Given the description of an element on the screen output the (x, y) to click on. 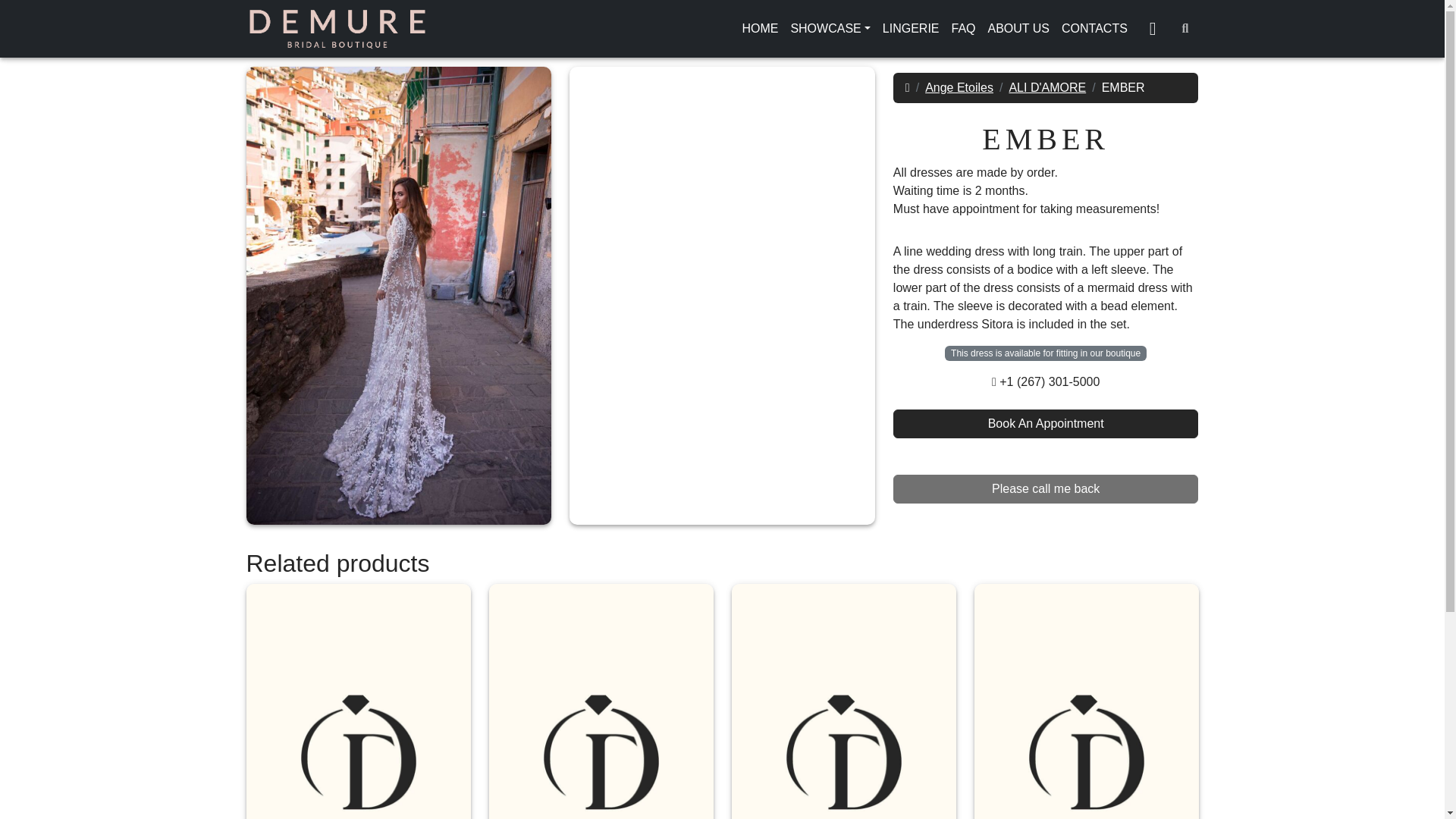
SHOWCASE (830, 28)
HOME (759, 28)
ALI D'AMORE (1047, 87)
Please call me back (1045, 489)
ABOUT US (1019, 28)
Book An Appointment (1045, 87)
CONTACTS (1045, 423)
Ange Etoiles (1094, 28)
LINGERIE (958, 87)
